Given the description of an element on the screen output the (x, y) to click on. 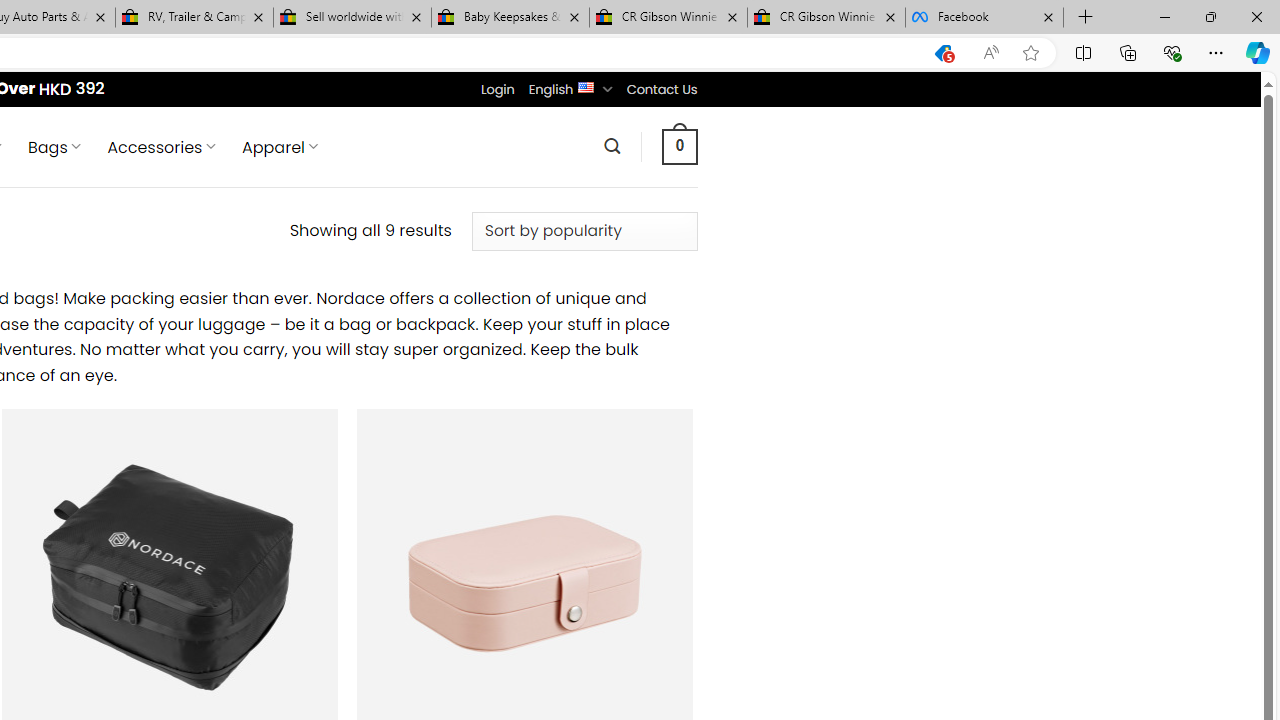
English (586, 86)
New Tab (1085, 17)
Login (497, 89)
Baby Keepsakes & Announcements for sale | eBay (509, 17)
